Given the description of an element on the screen output the (x, y) to click on. 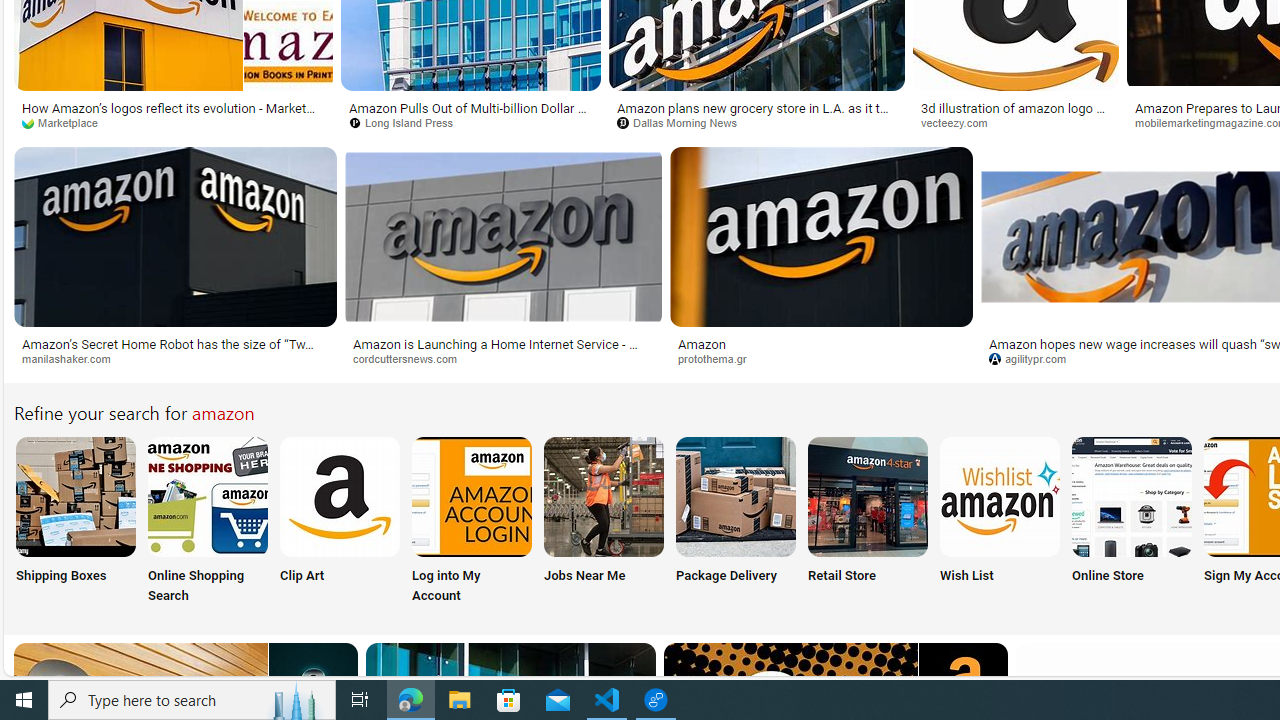
Amazon Clip Art (339, 496)
Amazon Log into My Account Log into My Account (472, 521)
Marketplace (66, 121)
Wish List (999, 521)
Amazon Clip Art Clip Art (339, 521)
vecteezy.com (1016, 123)
Amazon Wish List (999, 496)
Amazon Shipping Boxes (75, 496)
Dallas Morning News (756, 123)
Amazon Jobs Near Me (604, 496)
Amazon Wish List Wish List (999, 521)
Amazon Shipping Boxes Shipping Boxes (75, 521)
